Given the description of an element on the screen output the (x, y) to click on. 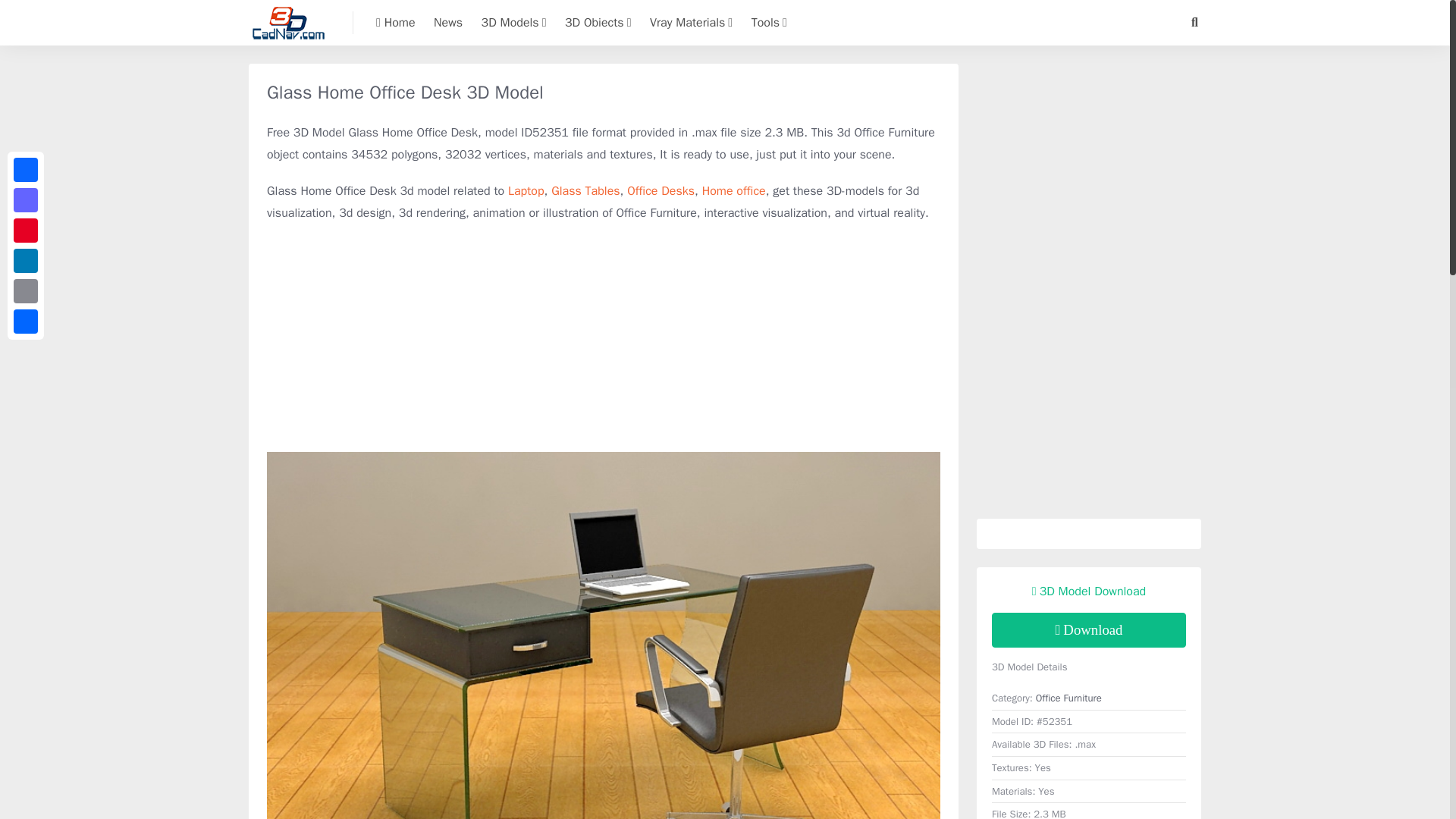
Office Desks 3d model (660, 191)
download Glass Home Office Desk 3d model (1088, 629)
Laptop 3d model (526, 191)
3D Obiects (597, 22)
Glass Tables 3d model (585, 191)
Home office 3d model (733, 191)
3D Models (514, 22)
